Given the description of an element on the screen output the (x, y) to click on. 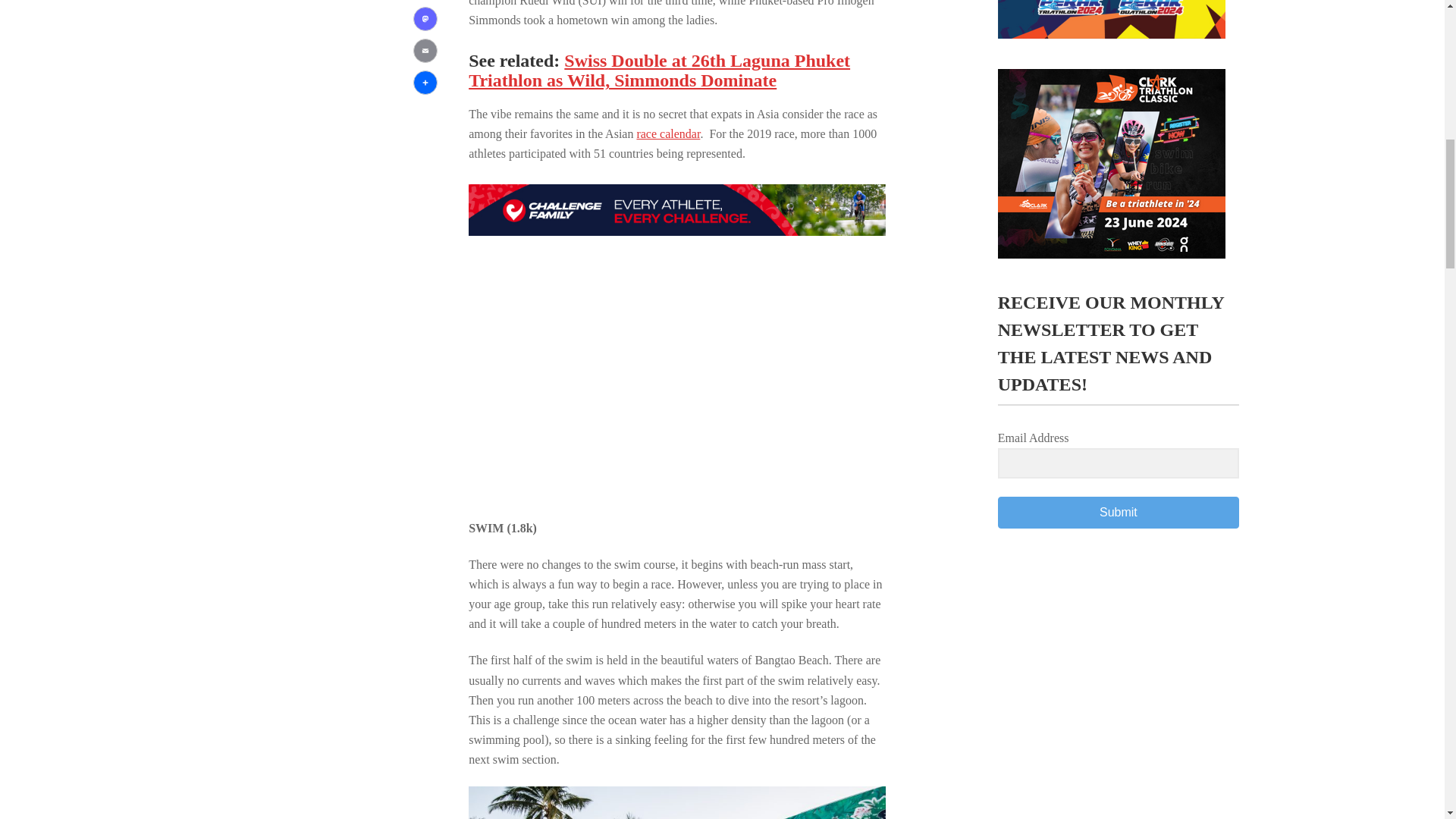
Mastodon (425, 18)
Email (425, 50)
